Given the description of an element on the screen output the (x, y) to click on. 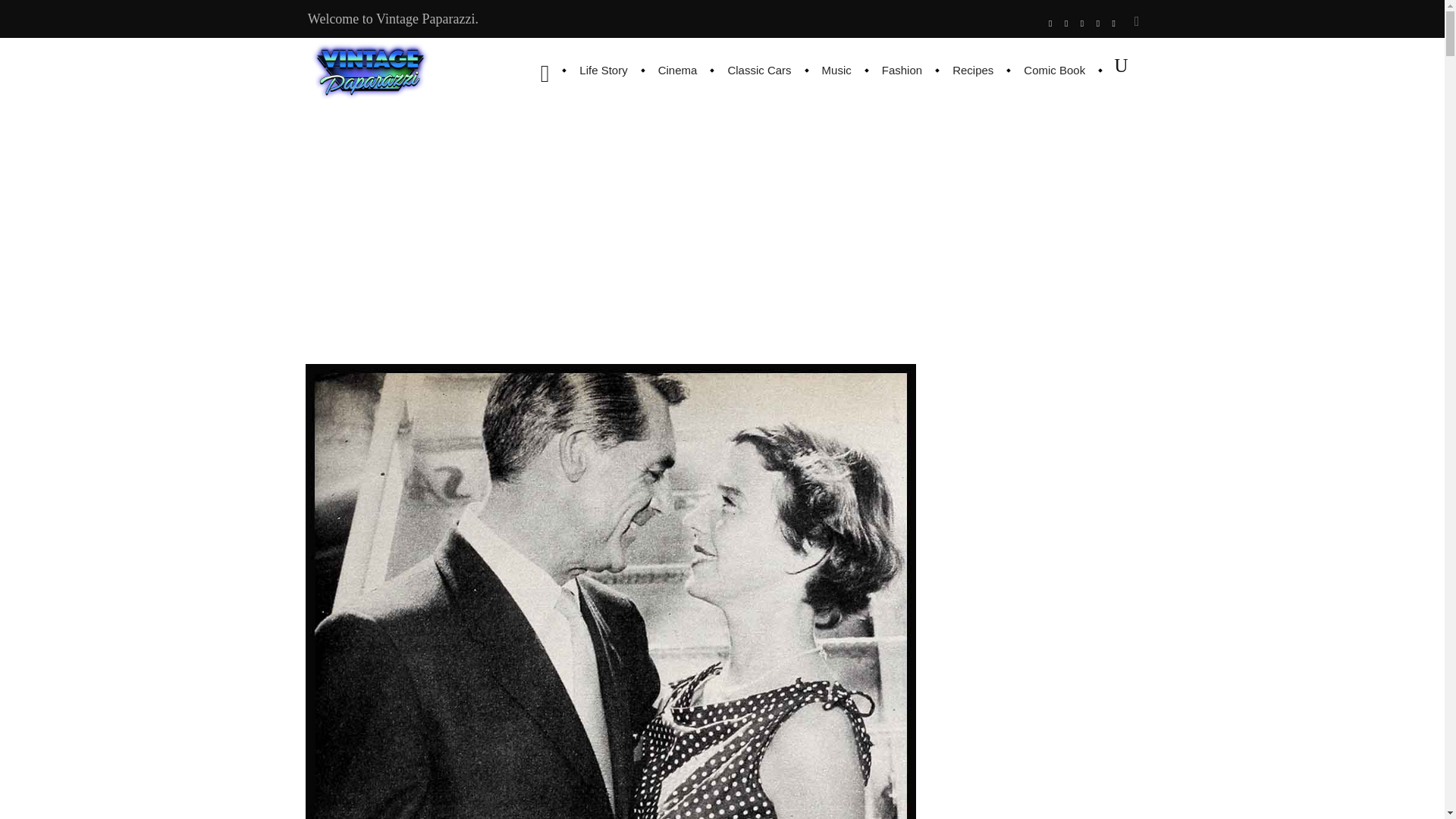
Life Story (603, 69)
Comic Book (1054, 69)
Cinema (678, 69)
Fashion (901, 69)
Music (836, 69)
Classic Cars (758, 69)
Recipes (973, 69)
